Given the description of an element on the screen output the (x, y) to click on. 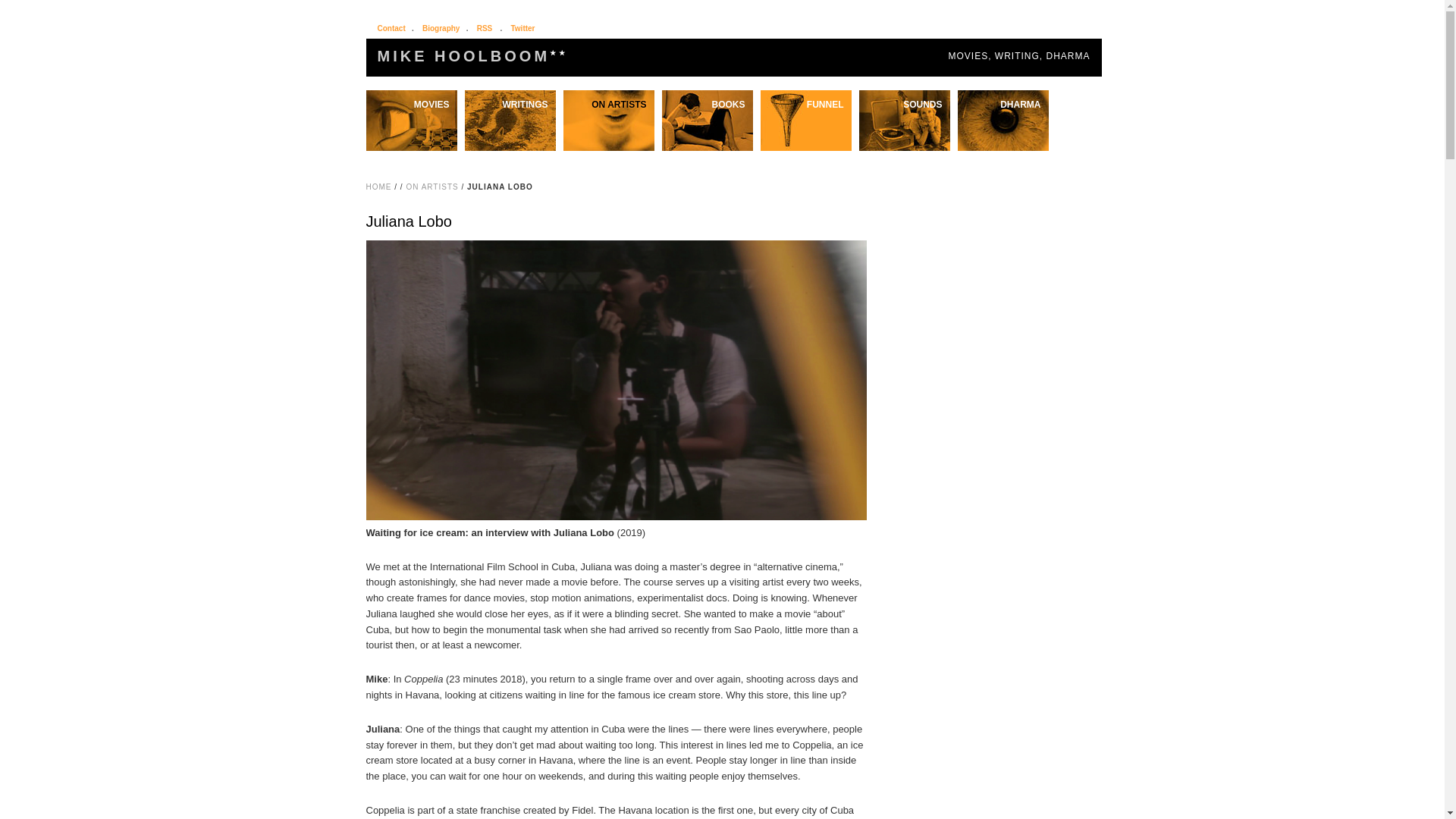
Contact (391, 28)
FUNNEL (805, 104)
MOVIES (411, 104)
Biography (441, 28)
WRITINGS (509, 104)
ON ARTISTS (607, 104)
RSS (486, 28)
Mike Hoolboom (473, 55)
SOUNDS (904, 104)
Twitter (524, 28)
ON ARTISTS (432, 186)
BOOKS (706, 104)
HOME (378, 186)
DHARMA (1002, 104)
